Given the description of an element on the screen output the (x, y) to click on. 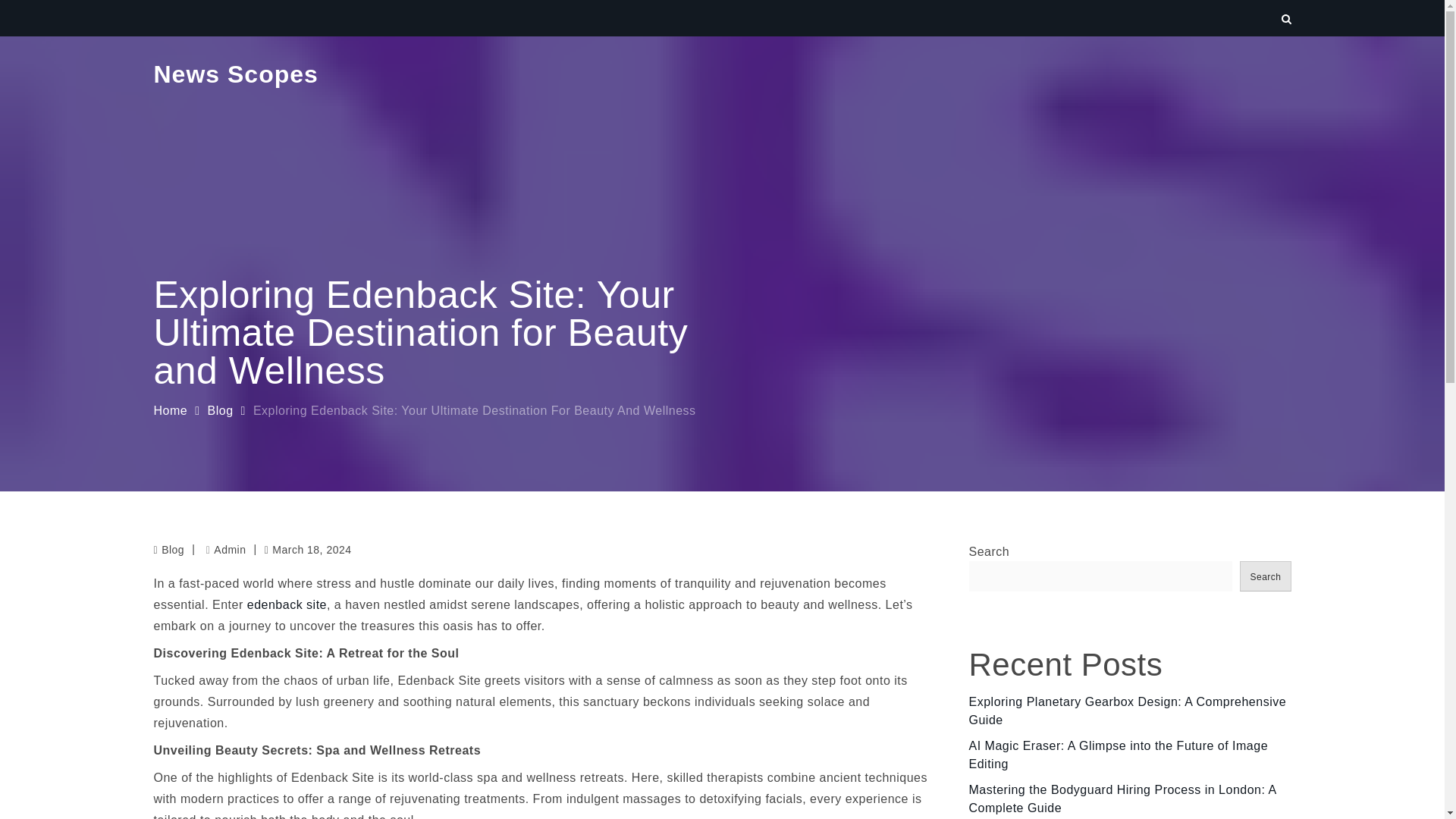
News Scopes (234, 73)
Admin (226, 549)
Exploring Planetary Gearbox Design: A Comprehensive Guide (1128, 710)
edenback site (286, 604)
Blog (172, 549)
AI Magic Eraser: A Glimpse into the Future of Image Editing (1118, 754)
Blog (220, 410)
March 18, 2024 (308, 549)
Search (1265, 576)
